Given the description of an element on the screen output the (x, y) to click on. 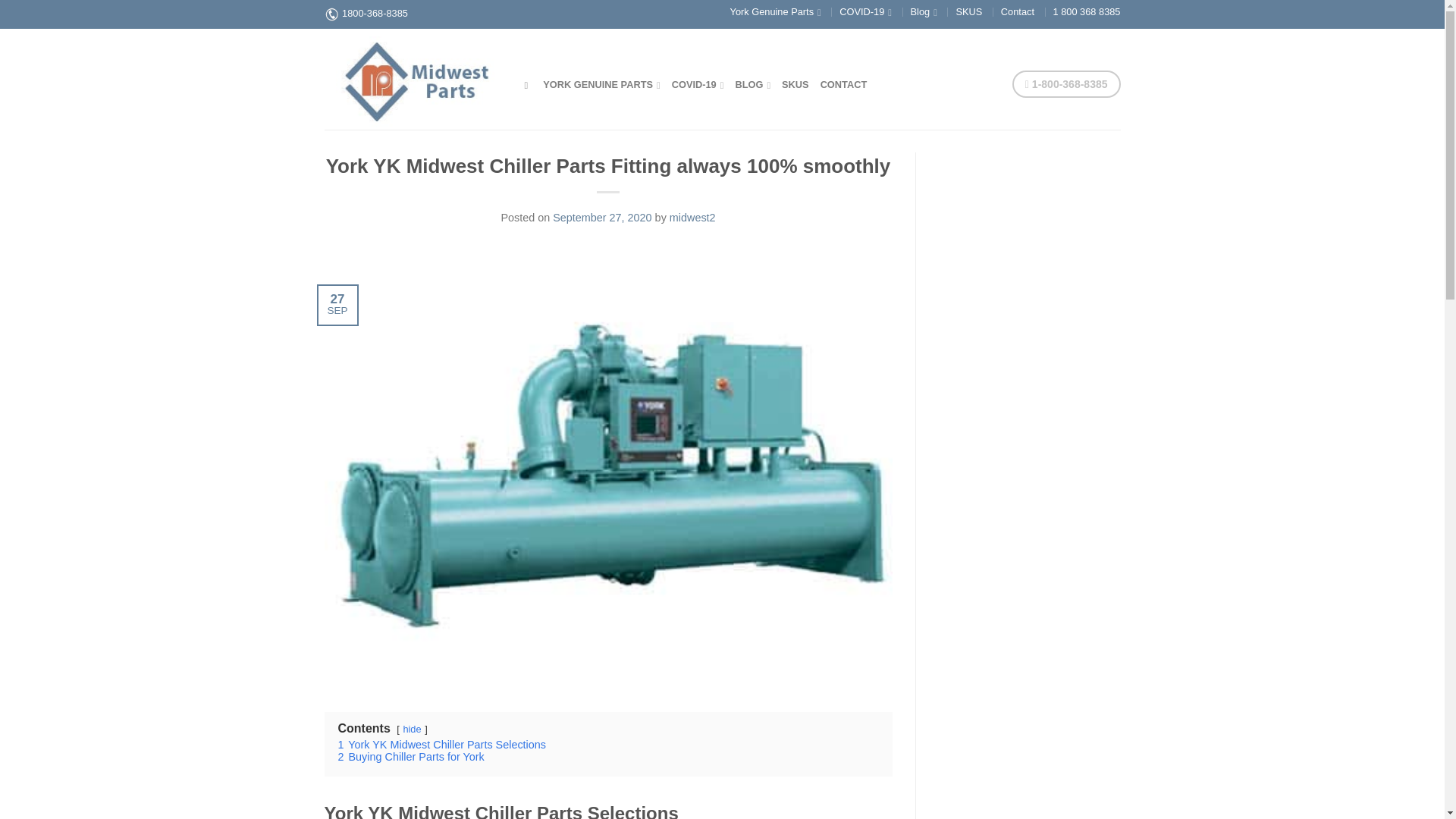
COVID-19 (697, 84)
1800-368-8385 (374, 12)
1 800 368 8385 (1086, 11)
York Genuine Parts (775, 11)
Contact (1017, 11)
Blog (924, 11)
Midwest Parts Center - York Genuine Parts (413, 78)
SKUS (968, 11)
BLOG (752, 84)
YORK GENUINE PARTS (602, 84)
COVID-19 (865, 11)
